Given the description of an element on the screen output the (x, y) to click on. 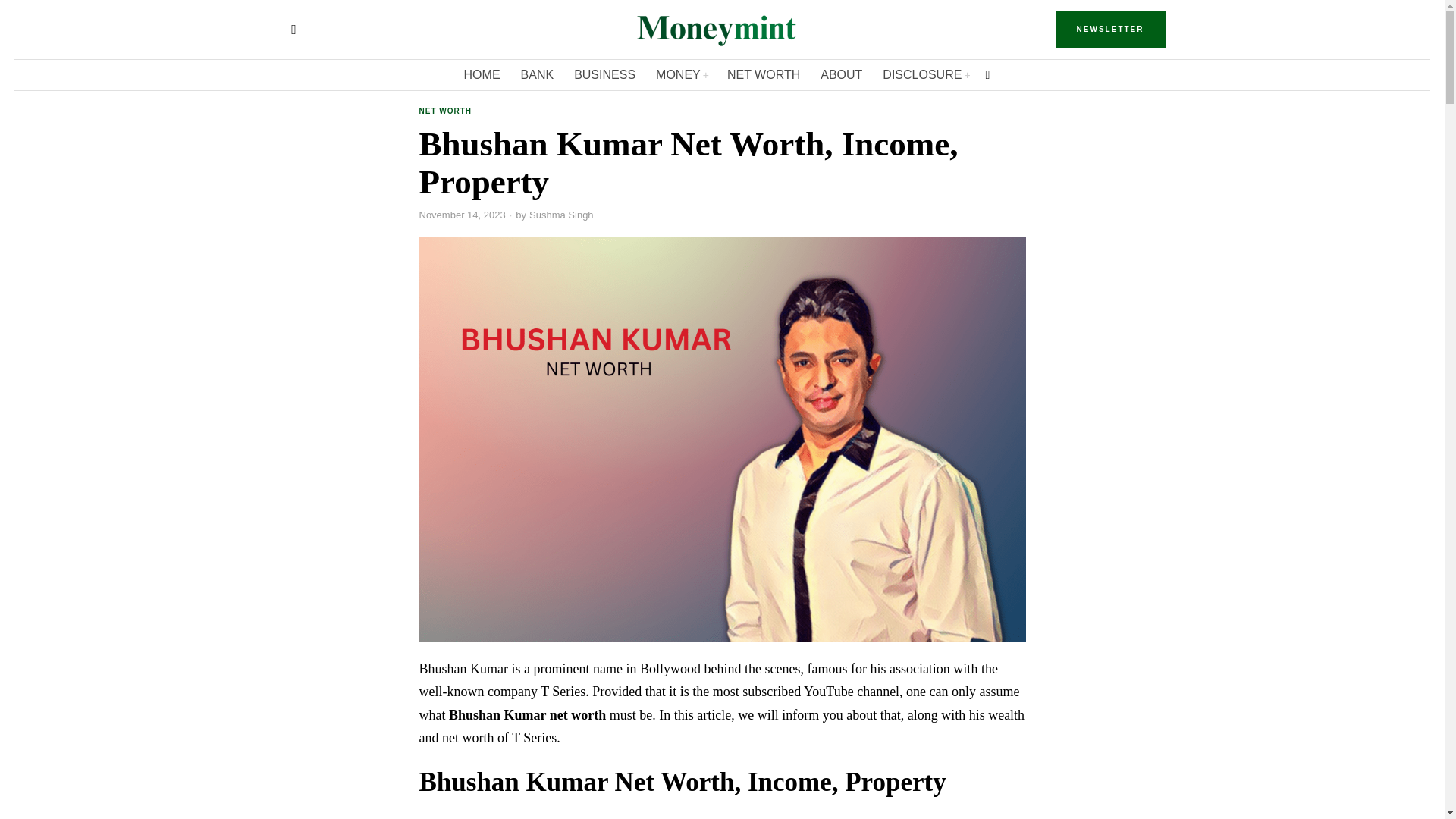
NET WORTH (445, 111)
BUSINESS (605, 74)
NET WORTH (763, 74)
HOME (483, 74)
14 Nov, 2023 14:08:13 (462, 214)
Sushma Singh (561, 214)
NEWSLETTER (1110, 29)
DISCLOSURE (925, 74)
BANK (539, 74)
MONEY (681, 74)
